Given the description of an element on the screen output the (x, y) to click on. 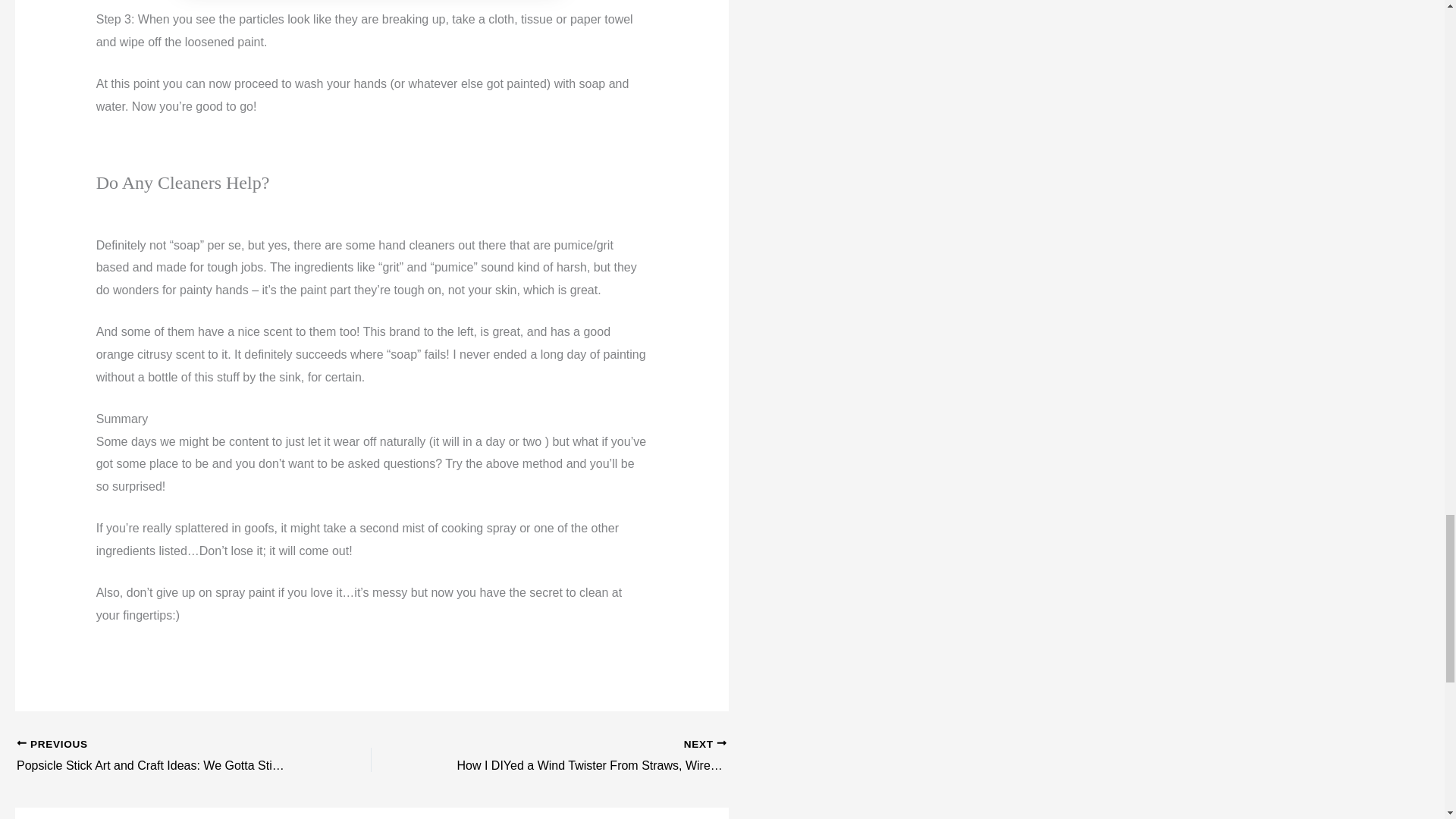
Popsicle Stick Art and Craft Ideas: We Gotta Stick Together (158, 756)
